Given the description of an element on the screen output the (x, y) to click on. 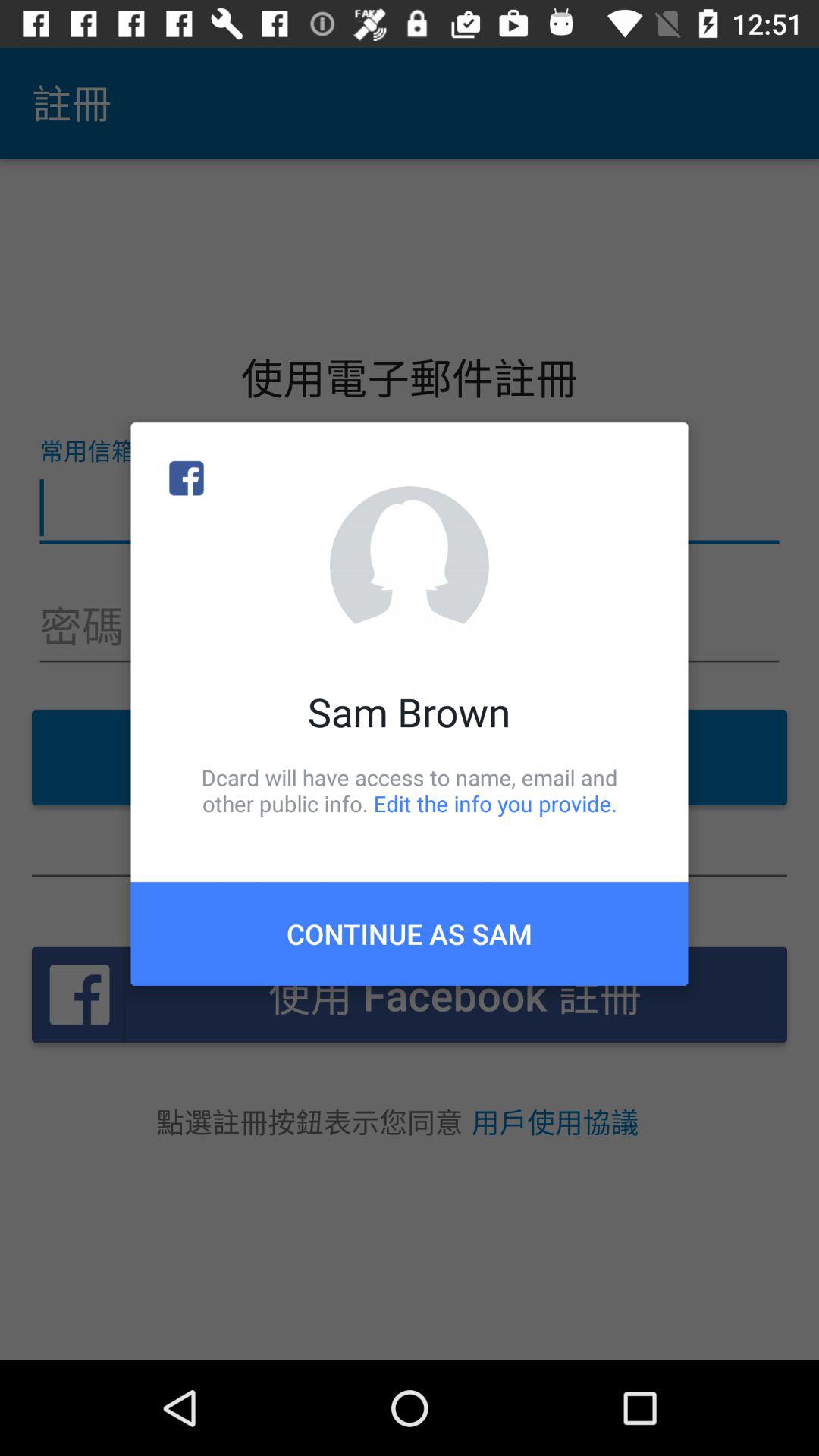
scroll to the dcard will have item (409, 790)
